Given the description of an element on the screen output the (x, y) to click on. 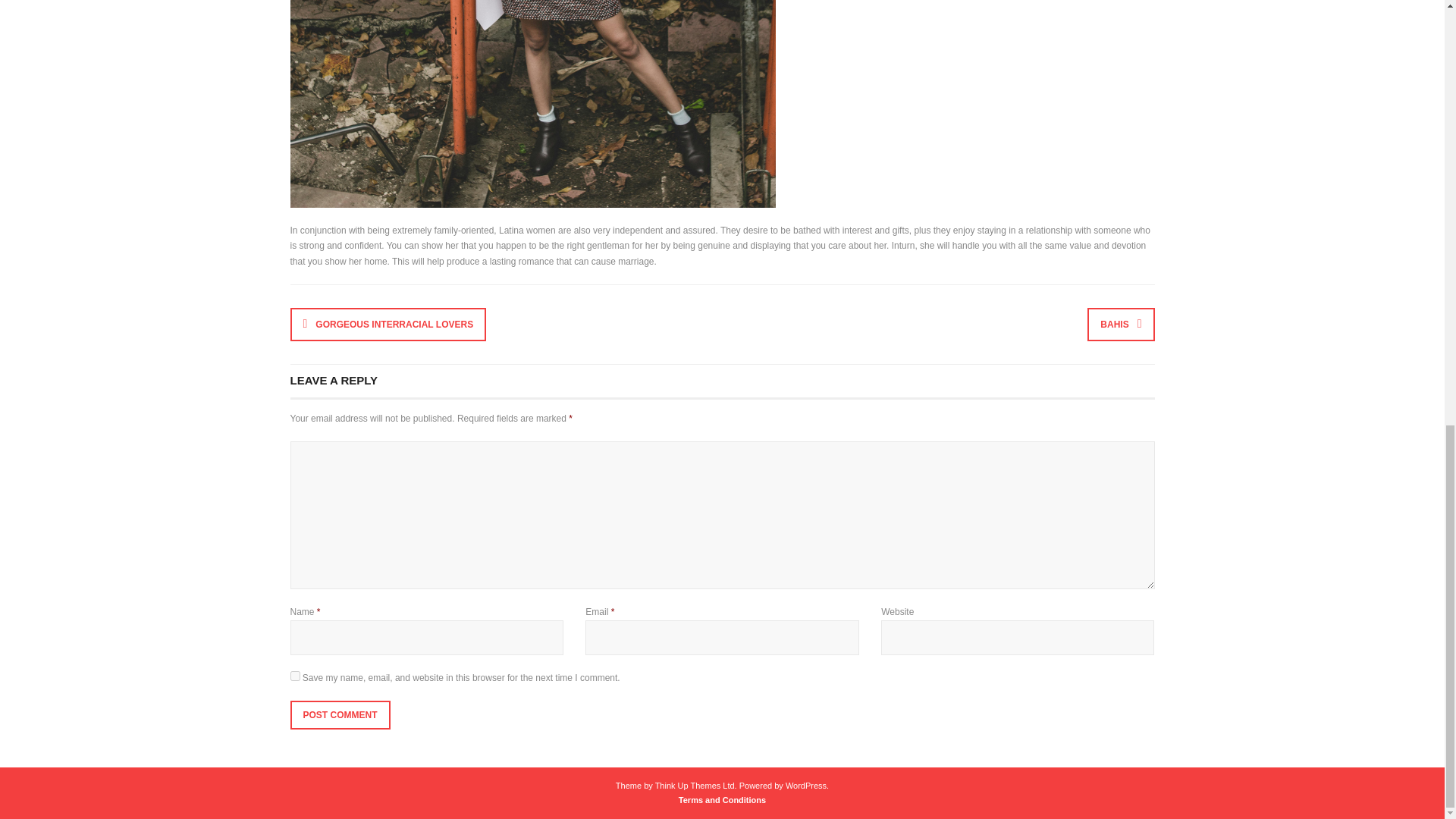
yes (294, 675)
Think Up Themes Ltd (695, 785)
Terms and Conditions (721, 799)
Post Comment (339, 715)
WordPress (806, 785)
BAHIS (1120, 324)
GORGEOUS INTERRACIAL LOVERS (387, 324)
Post Comment (339, 715)
